Given the description of an element on the screen output the (x, y) to click on. 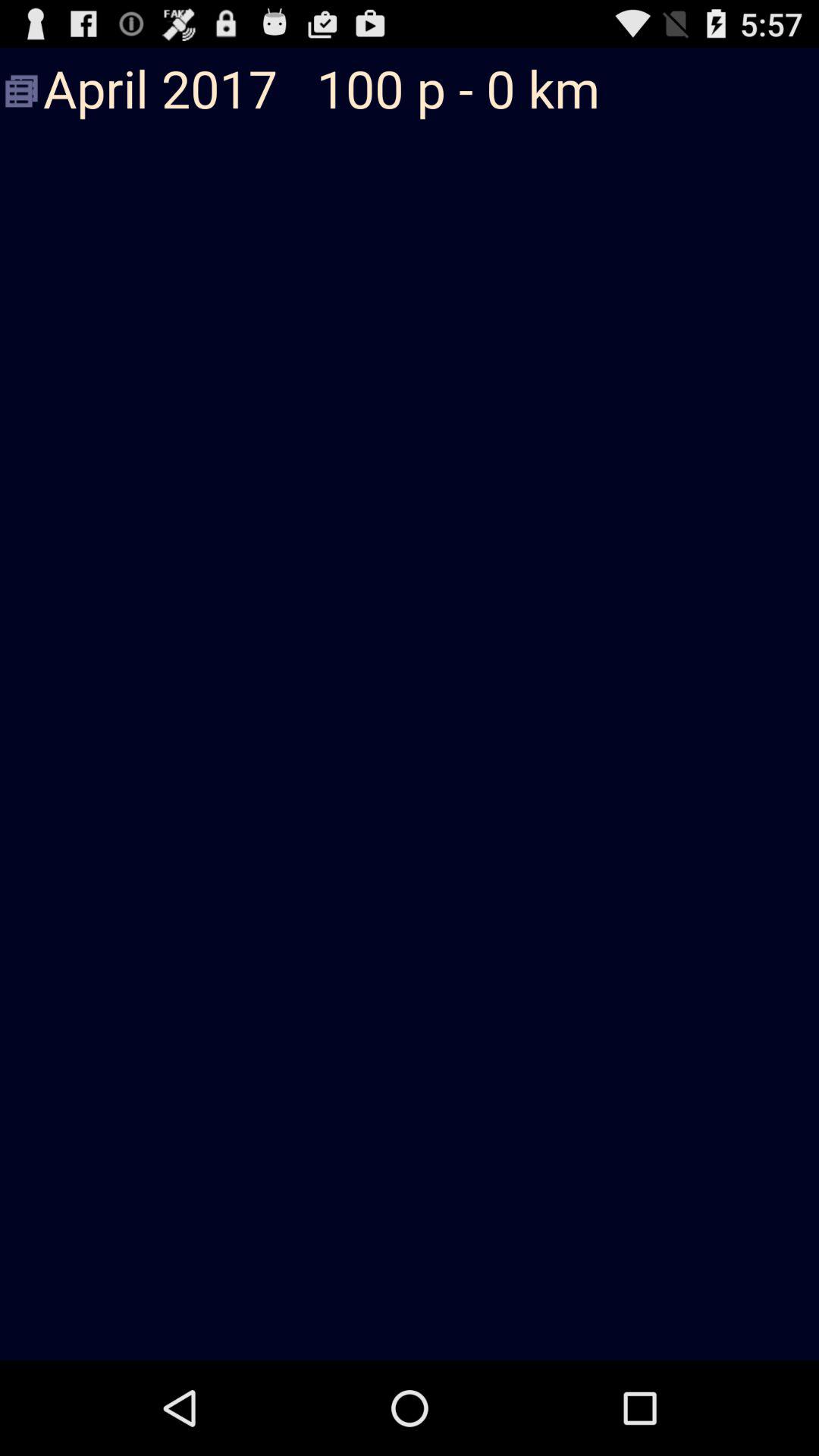
launch april 2017 100 at the top (409, 90)
